Given the description of an element on the screen output the (x, y) to click on. 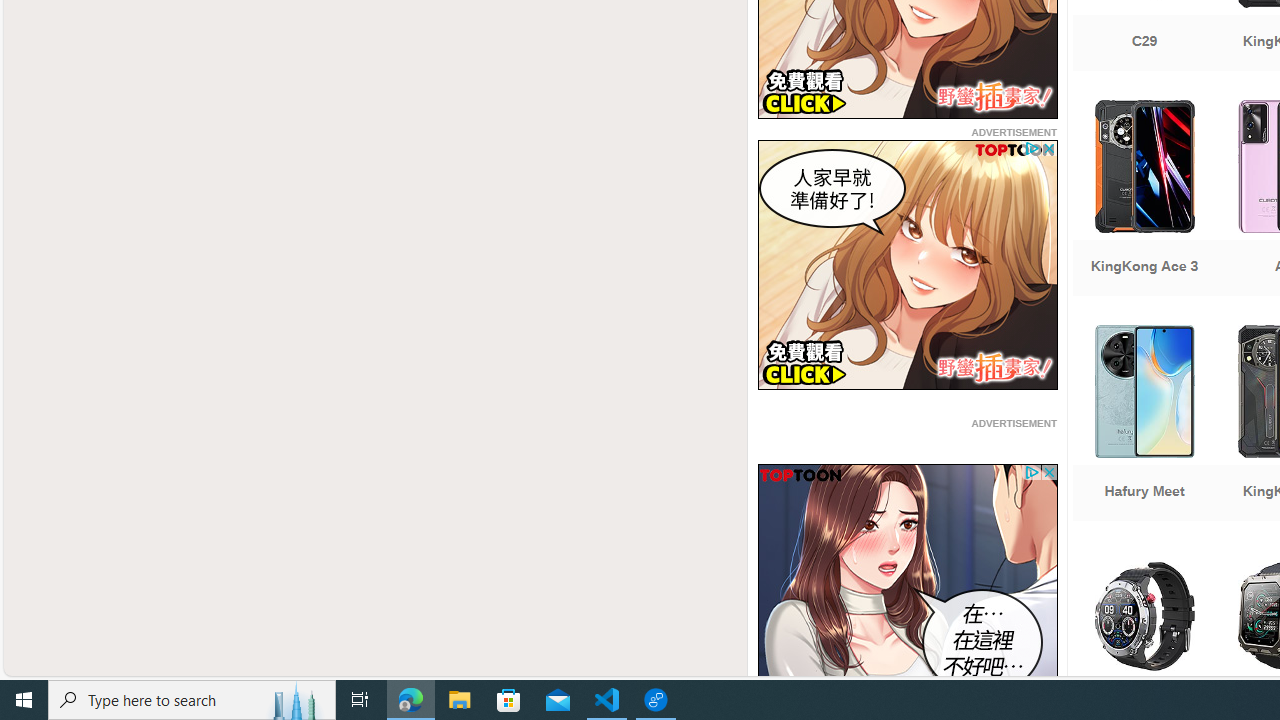
KingKong Ace 3 (1144, 200)
AutomationID: close_button_svg (1048, 472)
Hafury Meet (1144, 425)
To get missing image descriptions, open the context menu. (907, 588)
To get missing image descriptions, open the context menu. (907, 588)
Class: privacy_out (1030, 472)
